Given the description of an element on the screen output the (x, y) to click on. 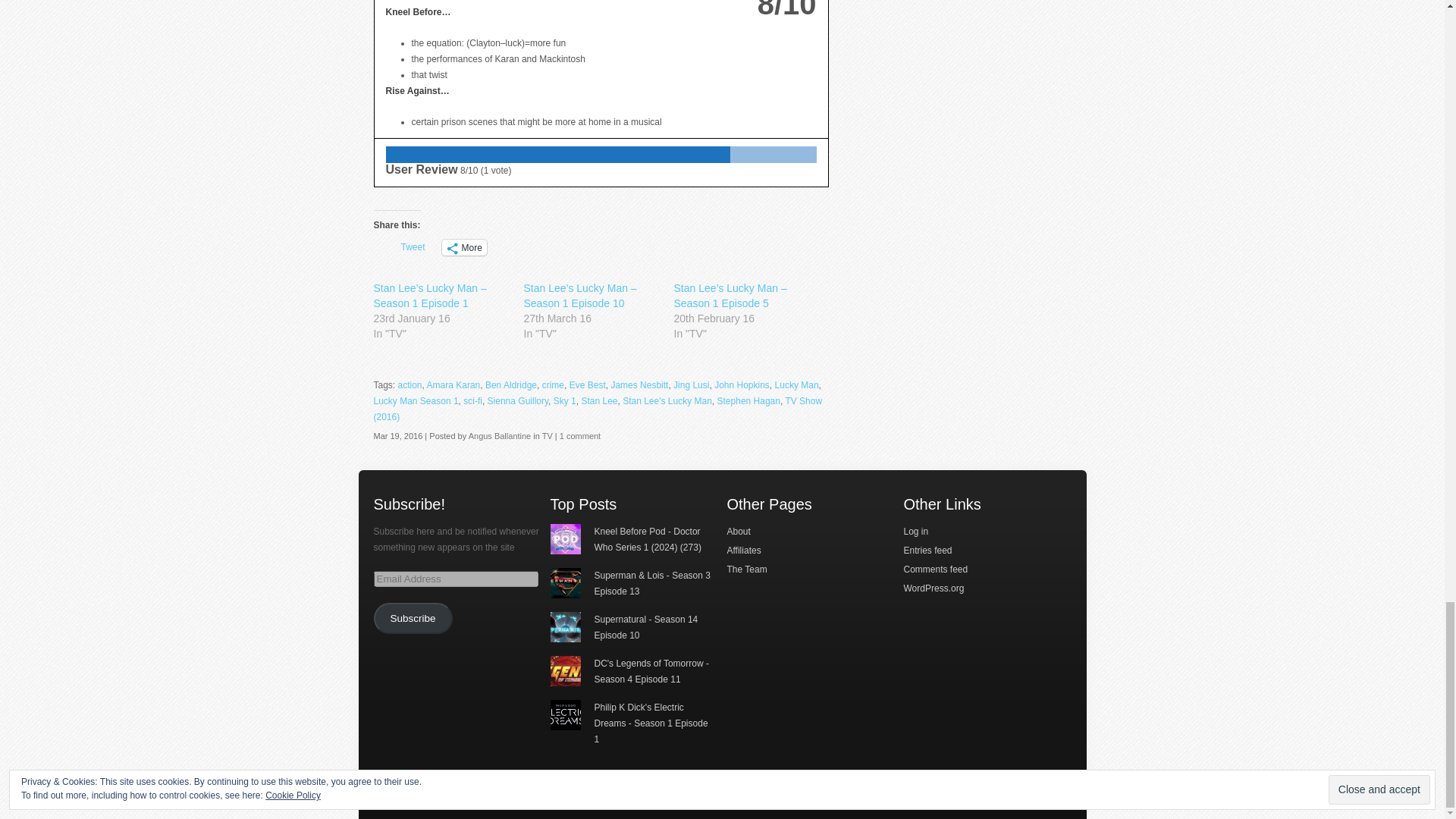
Posts by Angus Ballantine (499, 435)
